Given the description of an element on the screen output the (x, y) to click on. 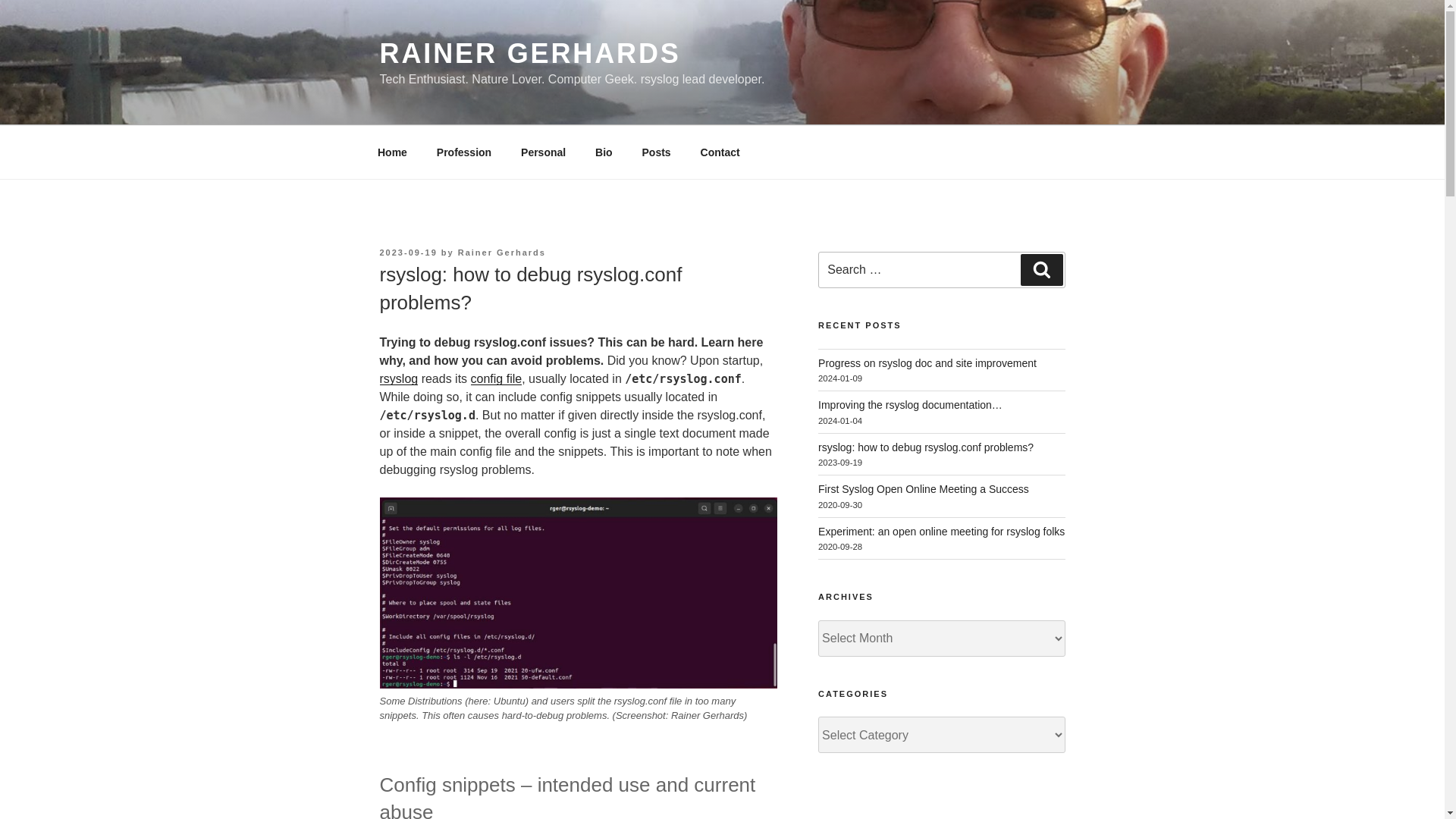
Posts (656, 151)
config file (496, 378)
rsyslog (397, 378)
Contact (719, 151)
Home (392, 151)
rsyslog: how to debug rsyslog.conf problems? (925, 447)
Experiment: an open online meeting for rsyslog folks (941, 531)
Rainer Gerhards (502, 252)
Profession (463, 151)
Progress on rsyslog doc and site improvement (927, 363)
Search (1041, 269)
Bio (604, 151)
2023-09-19 (407, 252)
Personal (543, 151)
First Syslog Open Online Meeting a Success (923, 489)
